Given the description of an element on the screen output the (x, y) to click on. 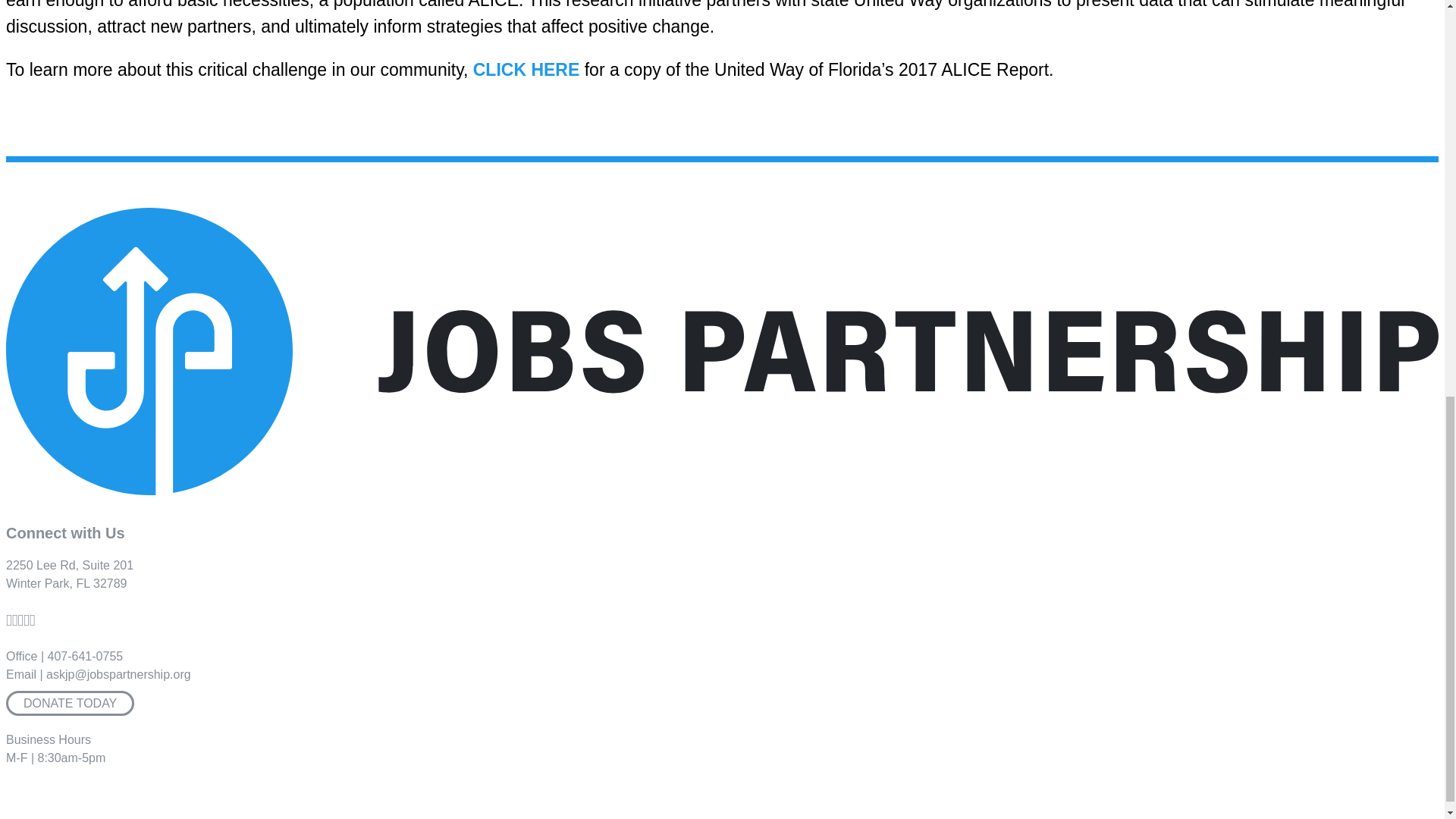
CLICK HERE (526, 69)
407-641-0755 (85, 656)
DONATE TODAY (69, 573)
